Given the description of an element on the screen output the (x, y) to click on. 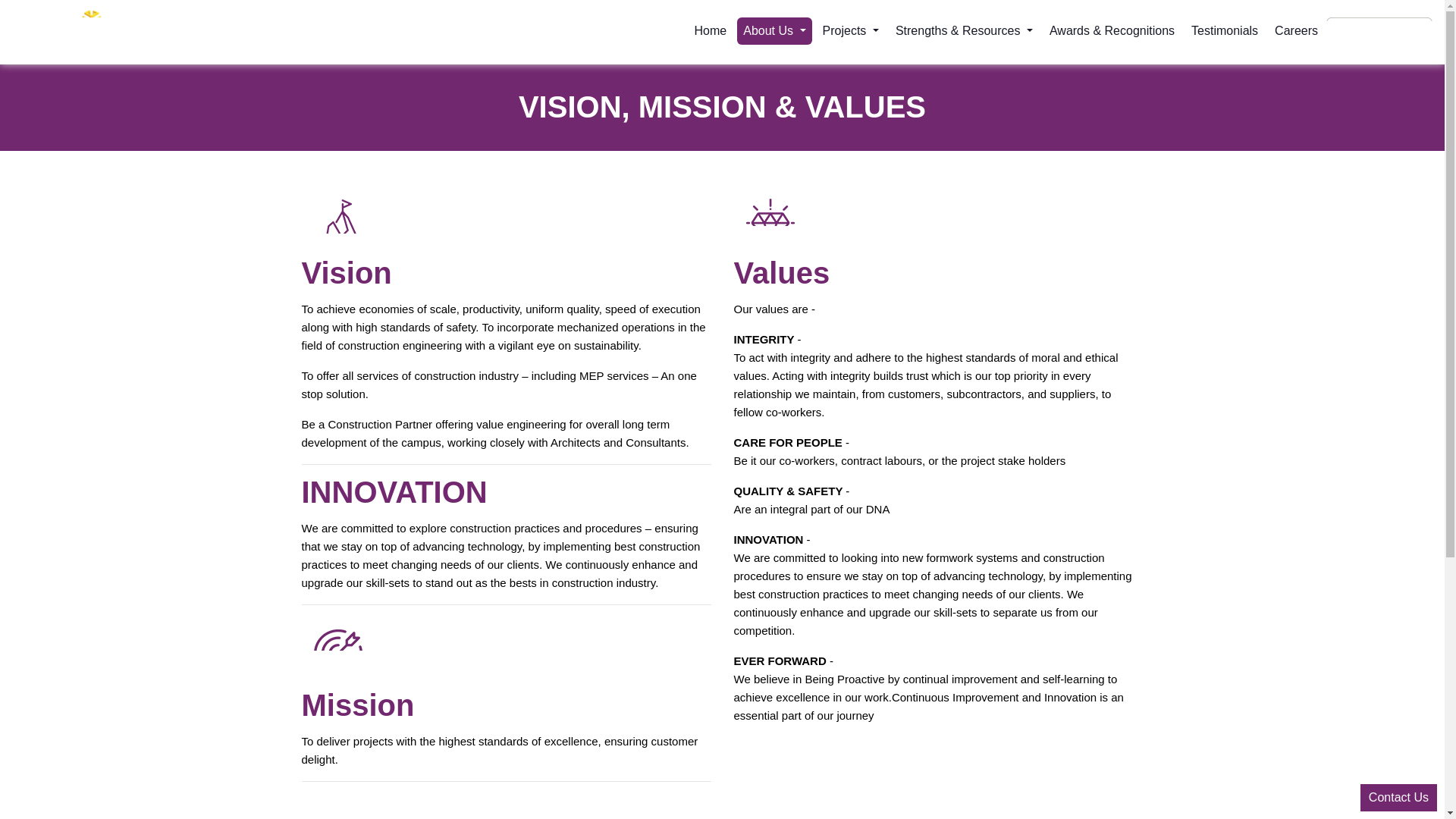
Projects (850, 31)
Contact Us (1398, 797)
Careers (1295, 31)
Home (710, 31)
About Us (773, 31)
Testimonials (1224, 31)
